Given the description of an element on the screen output the (x, y) to click on. 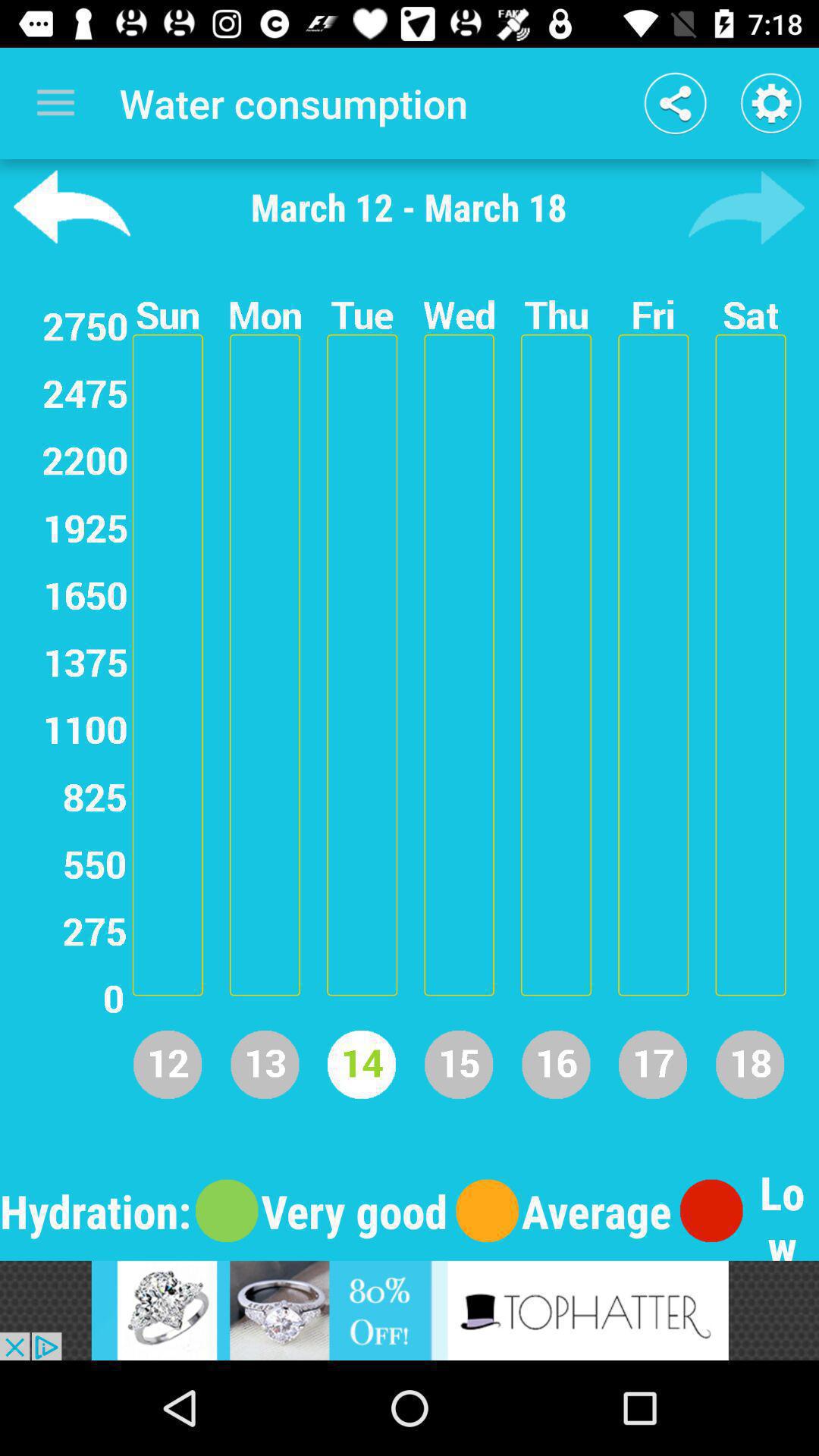
go to back option (746, 207)
